Given the description of an element on the screen output the (x, y) to click on. 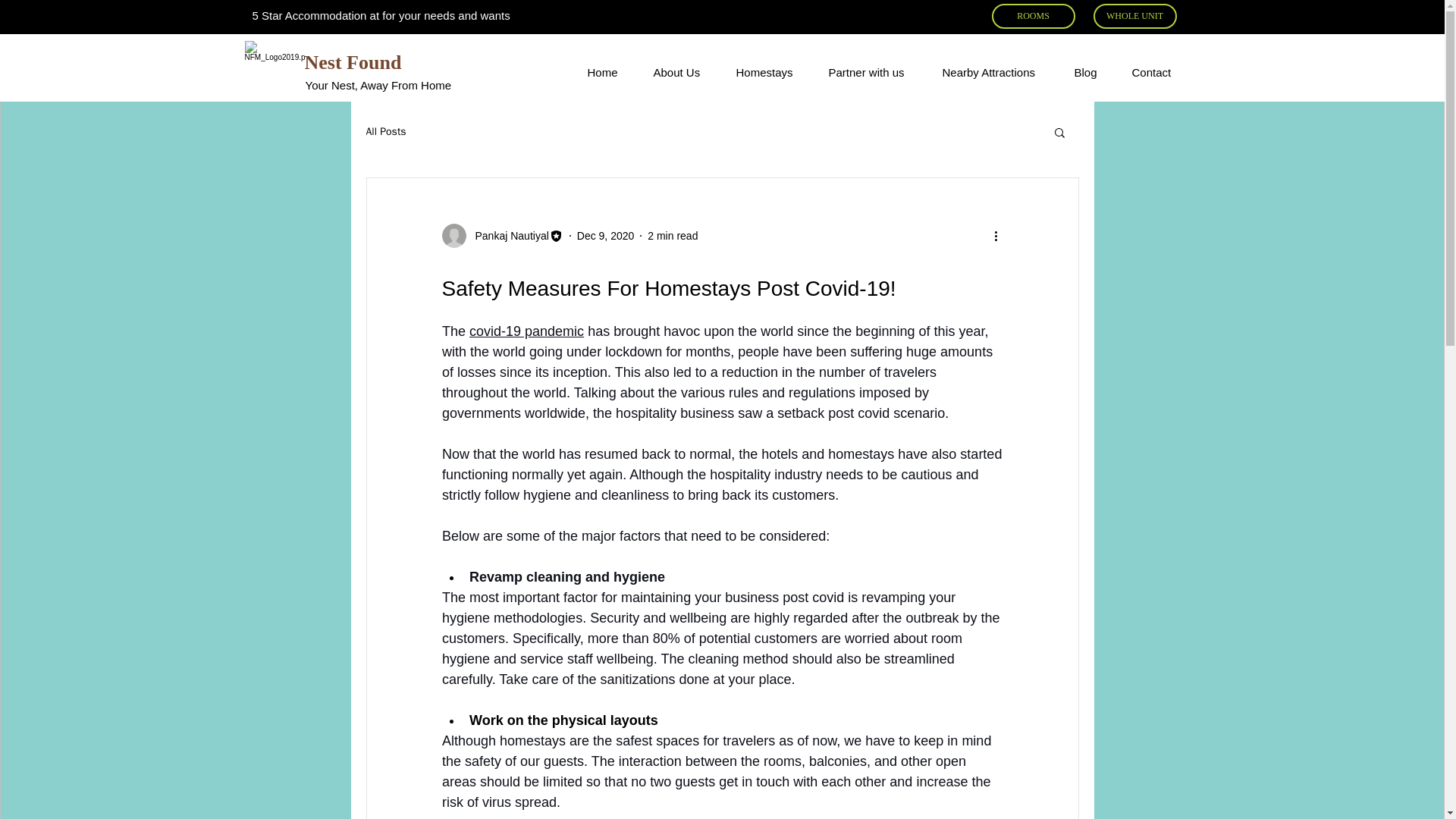
Pankaj Nautiyal (501, 235)
About Us (678, 72)
Nearby Attractions (990, 72)
ROOMS (1033, 16)
covid-19 pandemic (525, 331)
Home (602, 72)
WHOLE UNIT (1134, 16)
Blog (1085, 72)
Contact (1151, 72)
Dec 9, 2020 (605, 234)
